Given the description of an element on the screen output the (x, y) to click on. 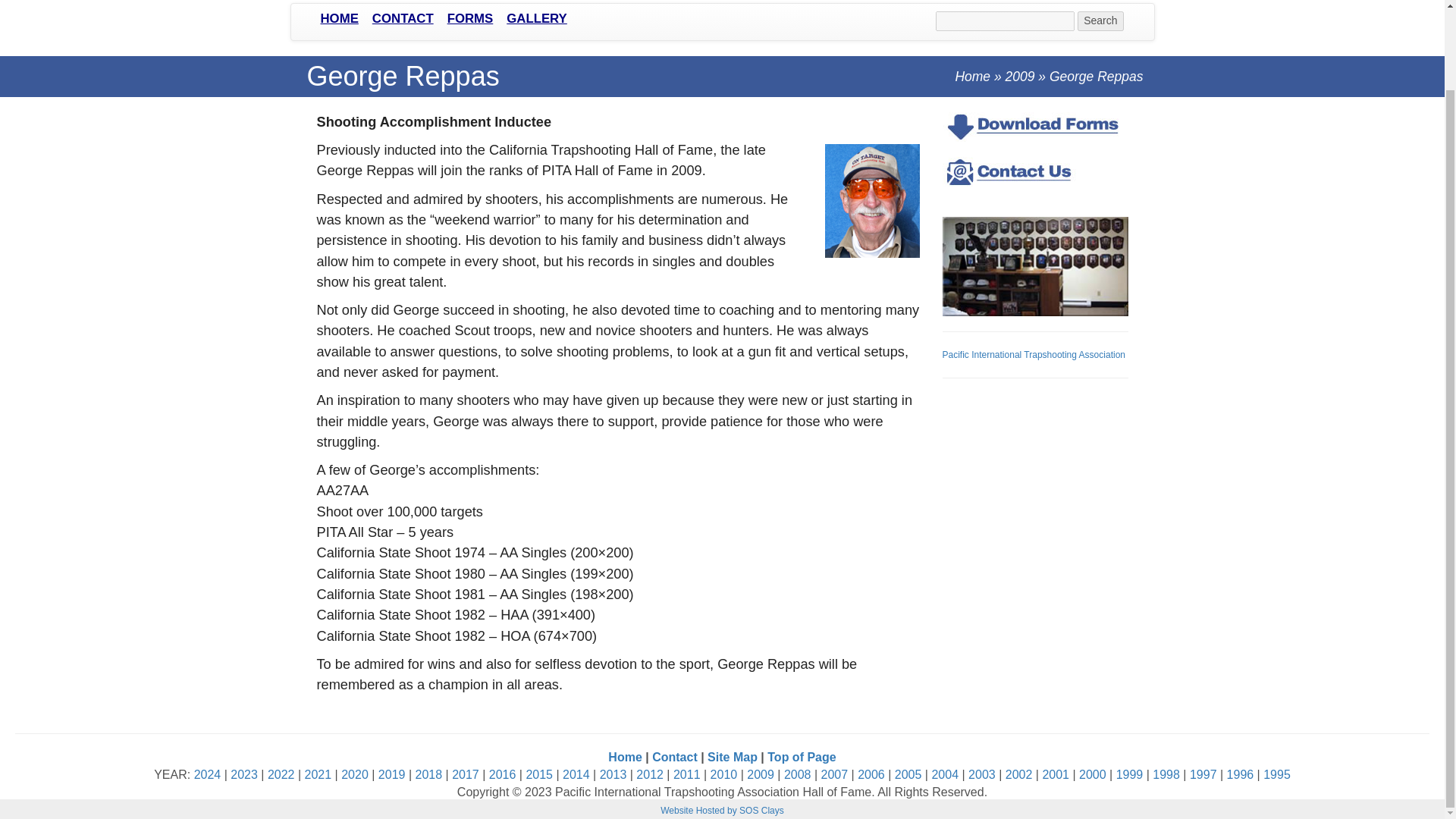
Gallery (536, 19)
2019 (392, 774)
2024 (207, 774)
Site Map (732, 757)
2015 (539, 774)
2009 (760, 774)
Contact (403, 19)
2003 (981, 774)
2006 (871, 774)
Home (339, 19)
